Given the description of an element on the screen output the (x, y) to click on. 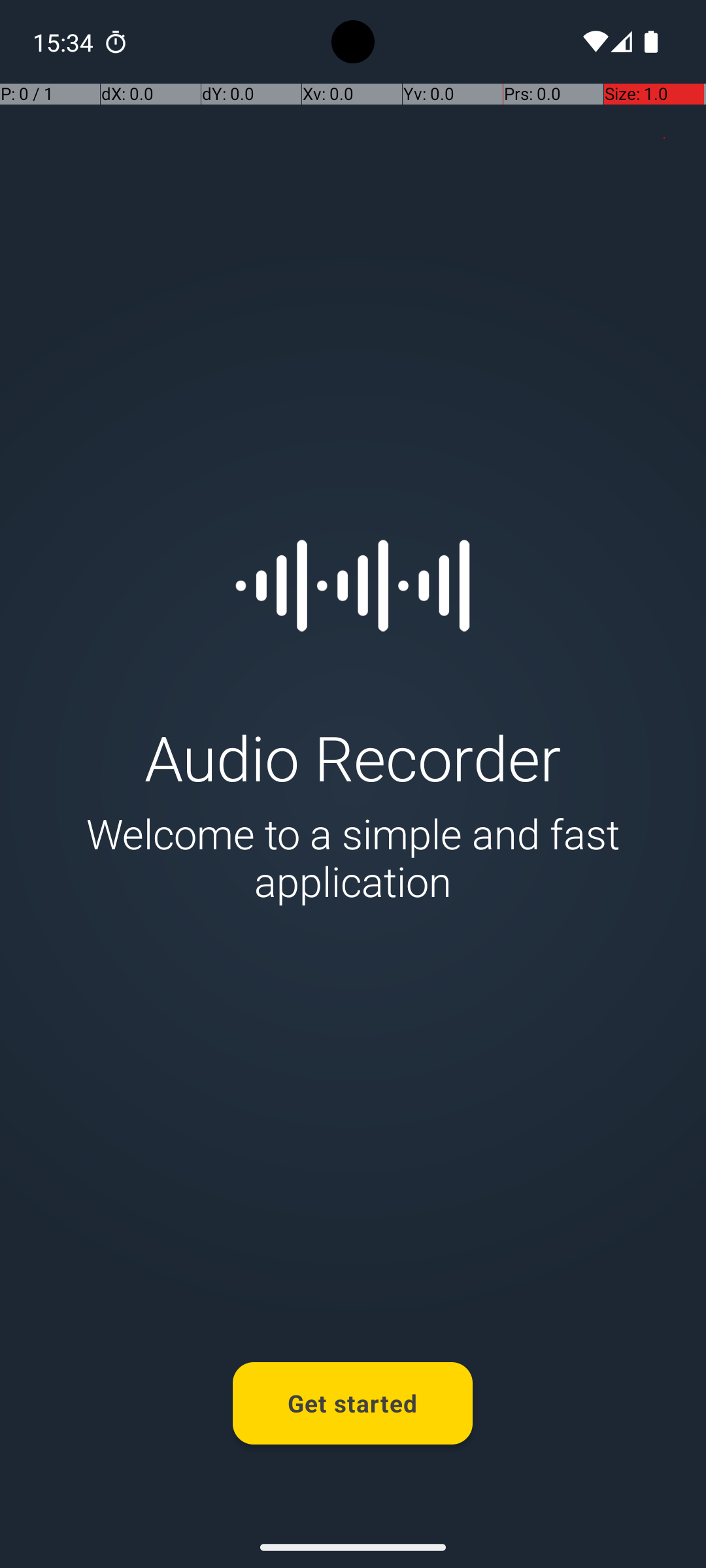
Wifi signal full. Element type: android.widget.FrameLayout (593, 41)
